Given the description of an element on the screen output the (x, y) to click on. 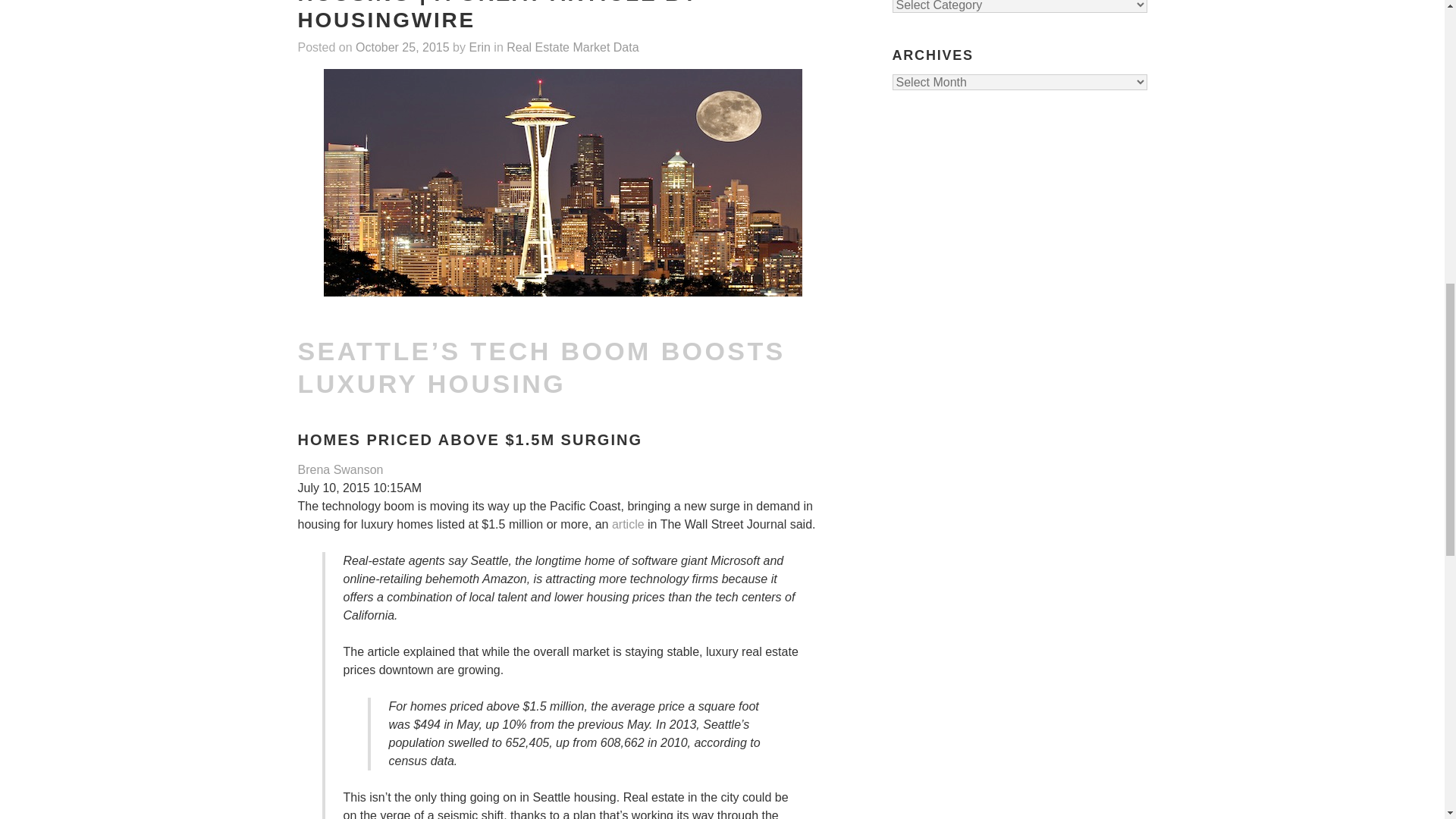
Brena Swanson (339, 469)
October 25, 2015 (402, 47)
Real Estate Market Data (572, 47)
article (628, 523)
Erin (478, 47)
